Given the description of an element on the screen output the (x, y) to click on. 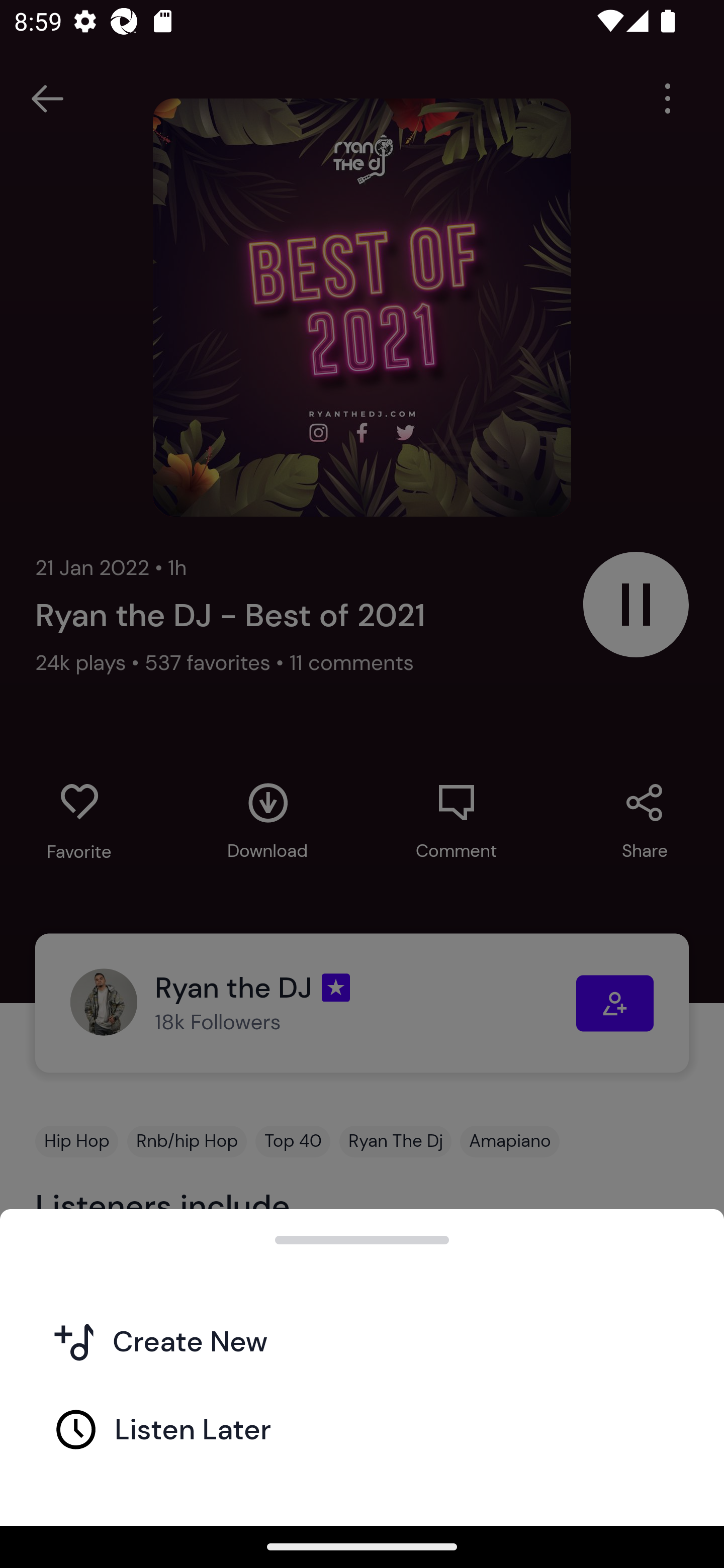
Create New (361, 1340)
Listen Later (361, 1428)
